Given the description of an element on the screen output the (x, y) to click on. 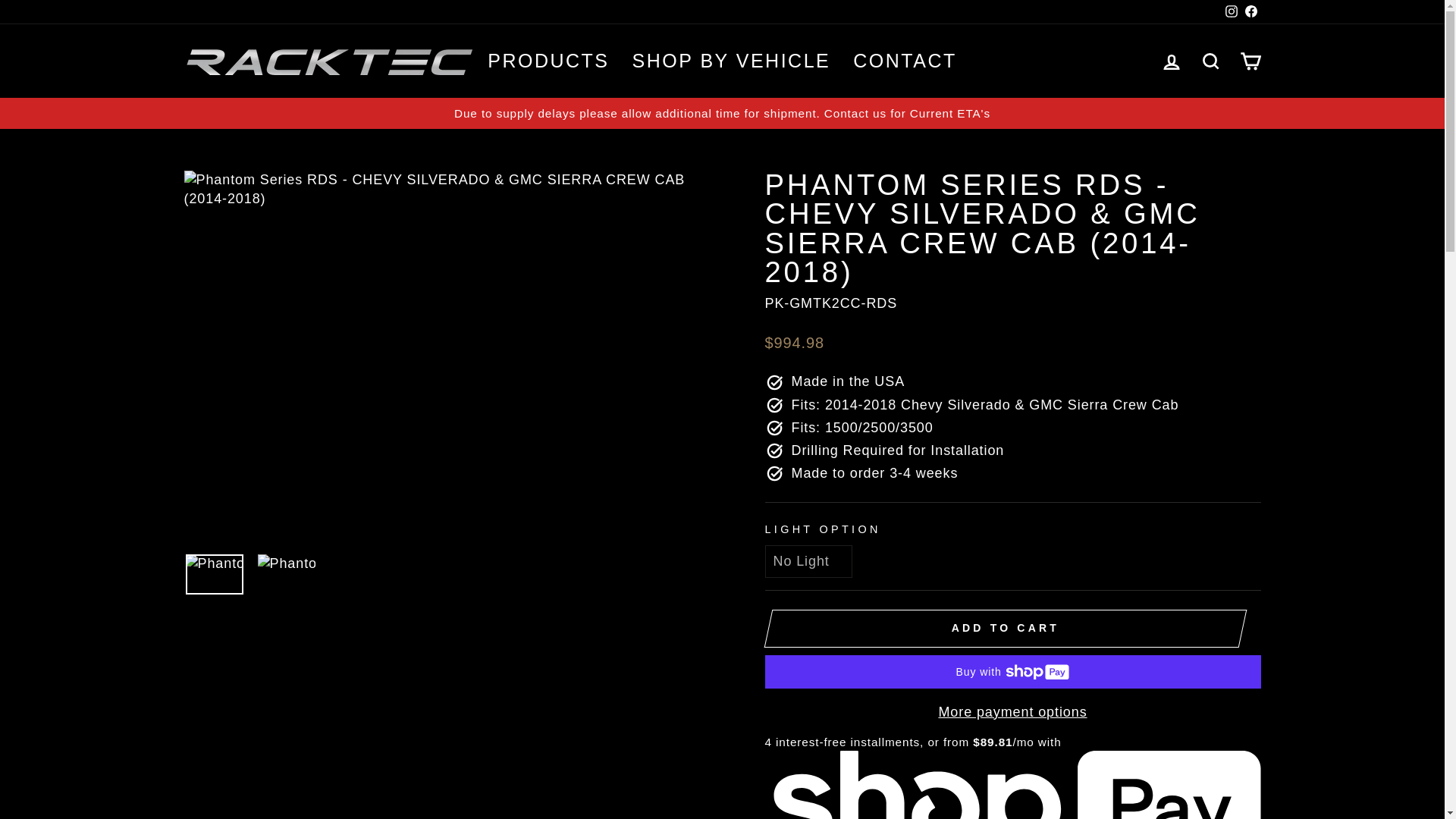
PRODUCTS (548, 60)
